Given the description of an element on the screen output the (x, y) to click on. 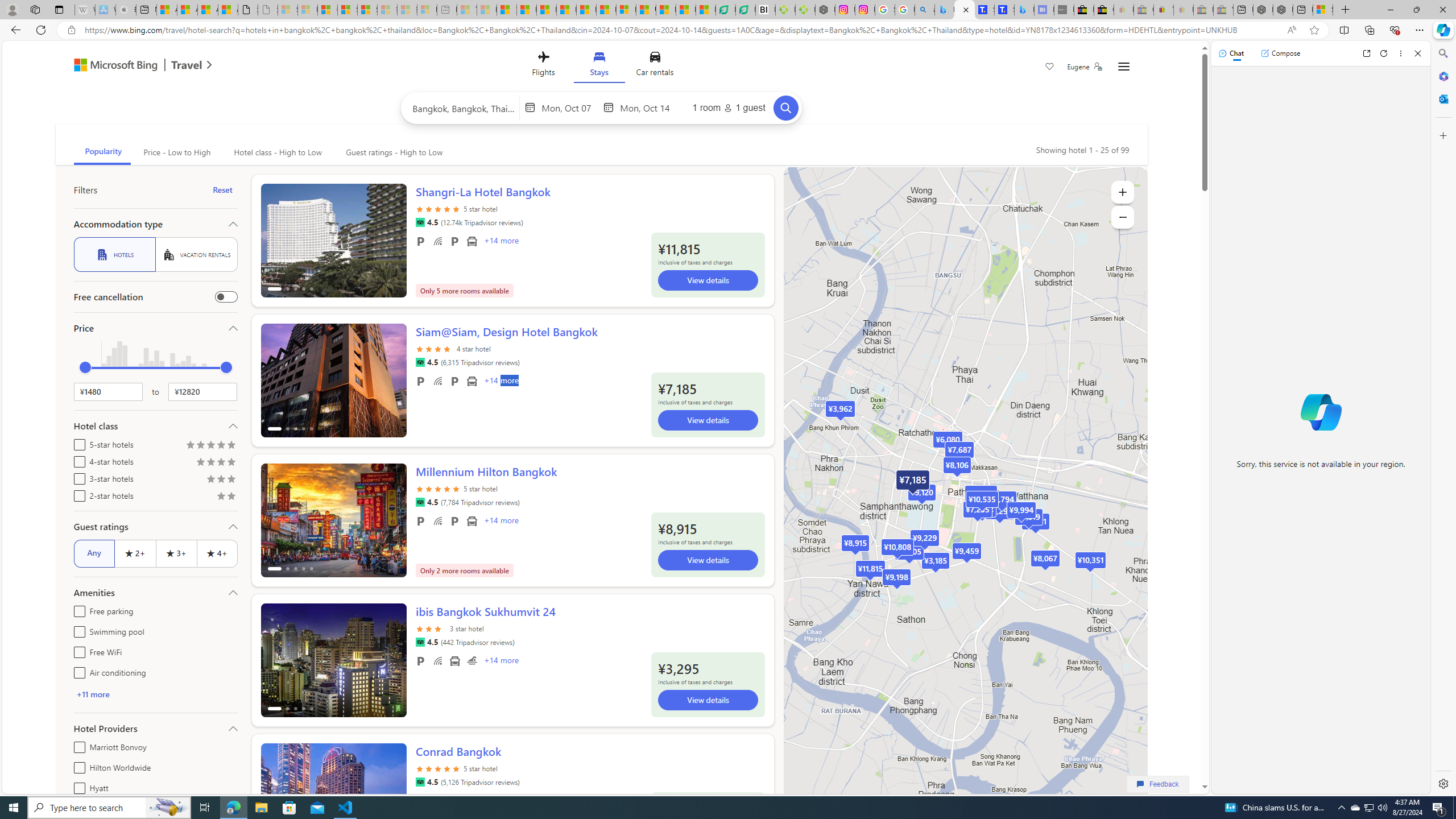
Save (1049, 67)
Popularity (101, 152)
Swimming pool (471, 660)
Zoom in (1122, 191)
Guest ratings (154, 526)
Marine life - MSN - Sleeping (486, 9)
View details (708, 706)
Stays (598, 65)
Sign in to your Microsoft account - Sleeping (287, 9)
